Given the description of an element on the screen output the (x, y) to click on. 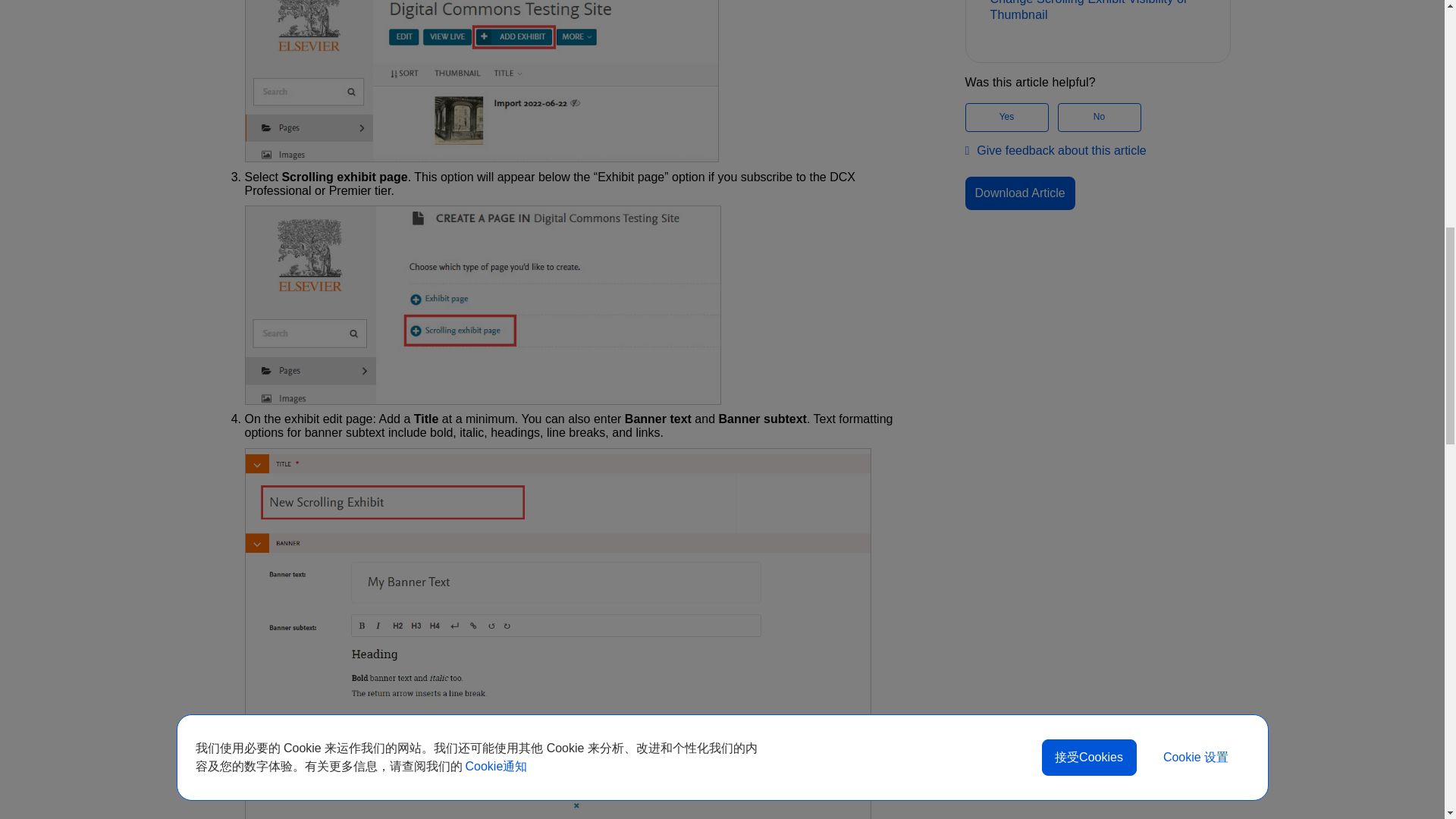
Download Article (1018, 192)
Yes (1005, 117)
No (1098, 117)
Give feedback about this article (1054, 151)
Change Scrolling Exhibit Visibility or Thumbnail (1097, 13)
